Given the description of an element on the screen output the (x, y) to click on. 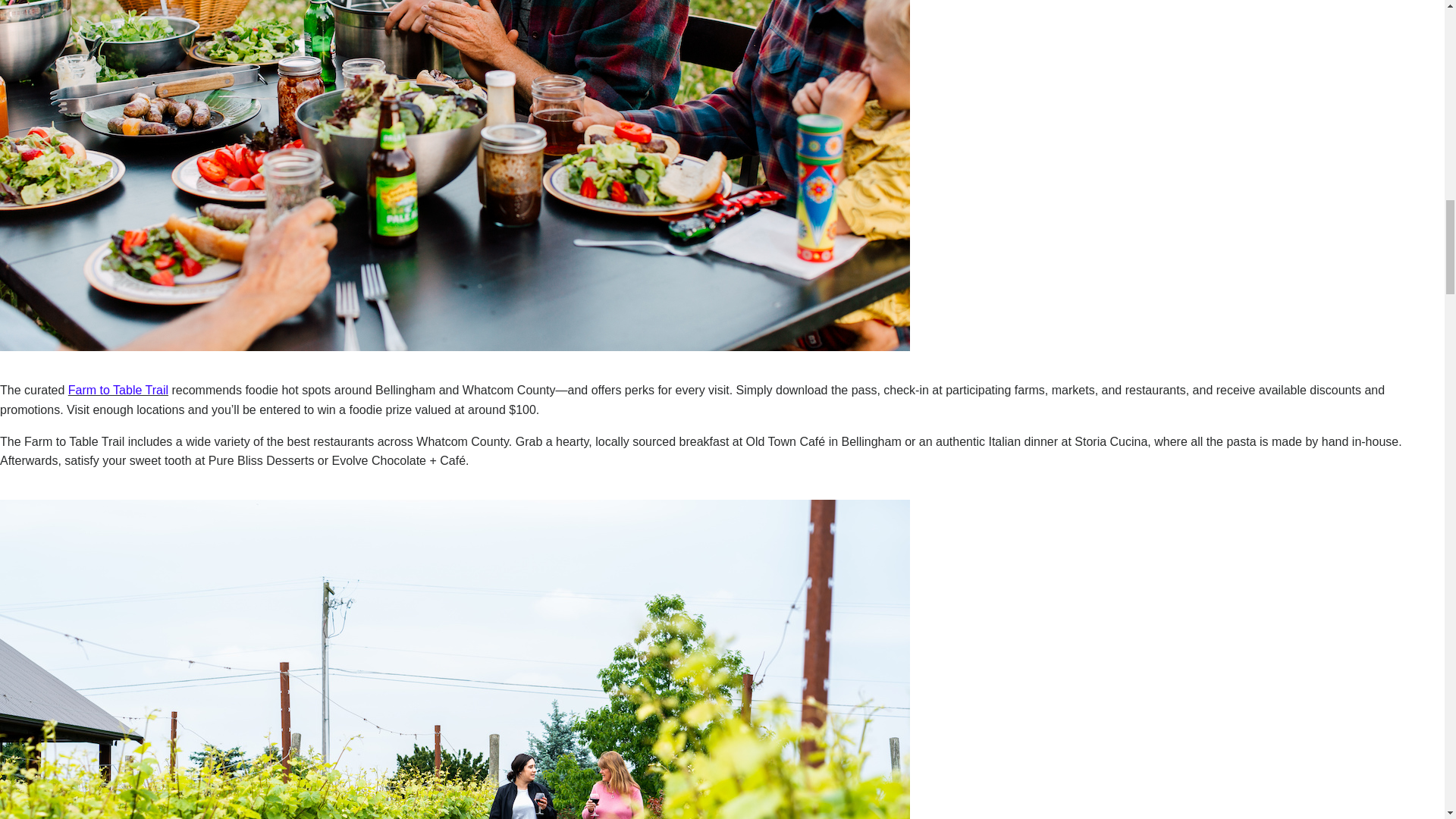
Farm to Table Trail (118, 390)
